Given the description of an element on the screen output the (x, y) to click on. 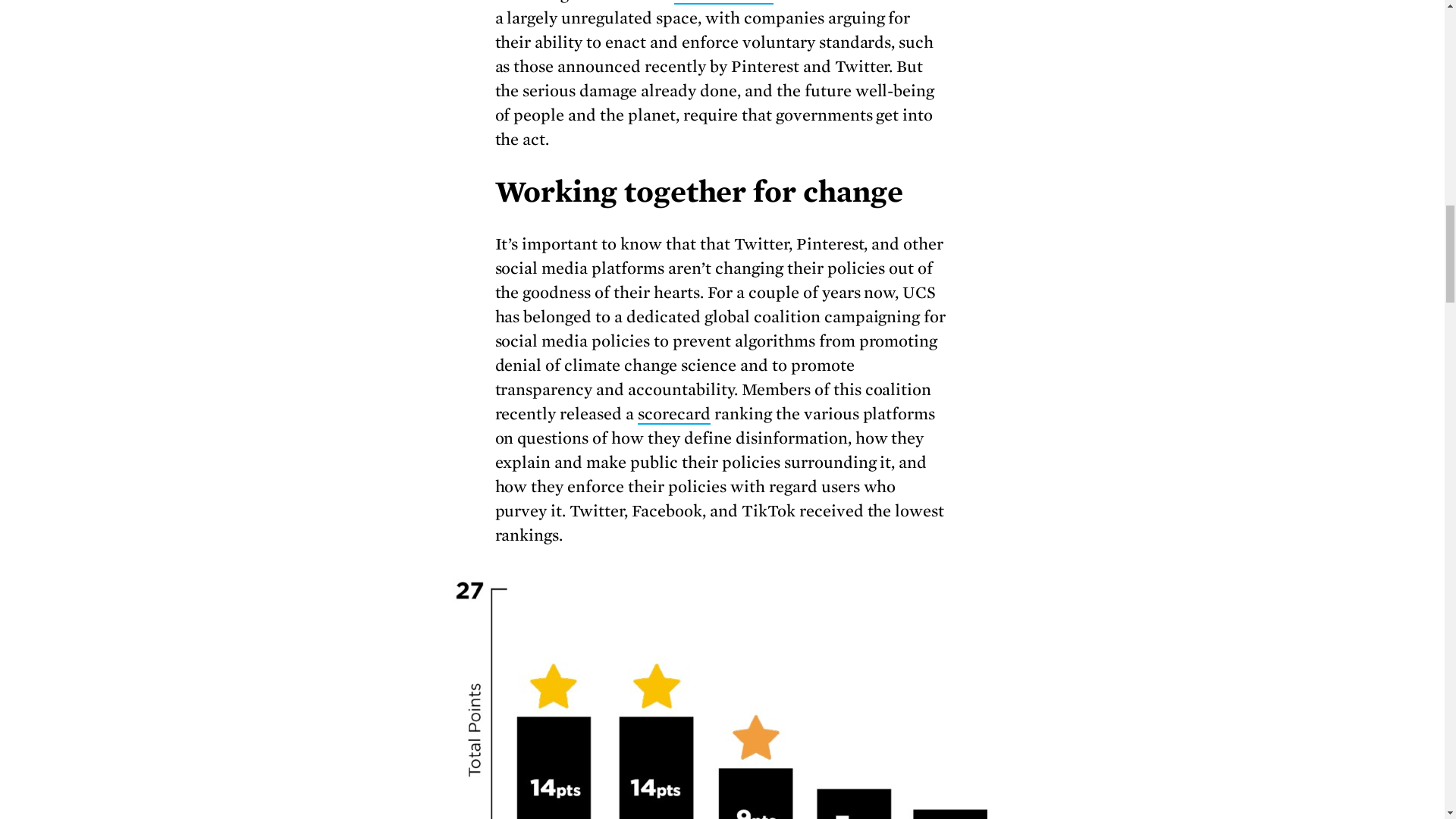
scorecard (673, 414)
climate crisis (723, 2)
